Given the description of an element on the screen output the (x, y) to click on. 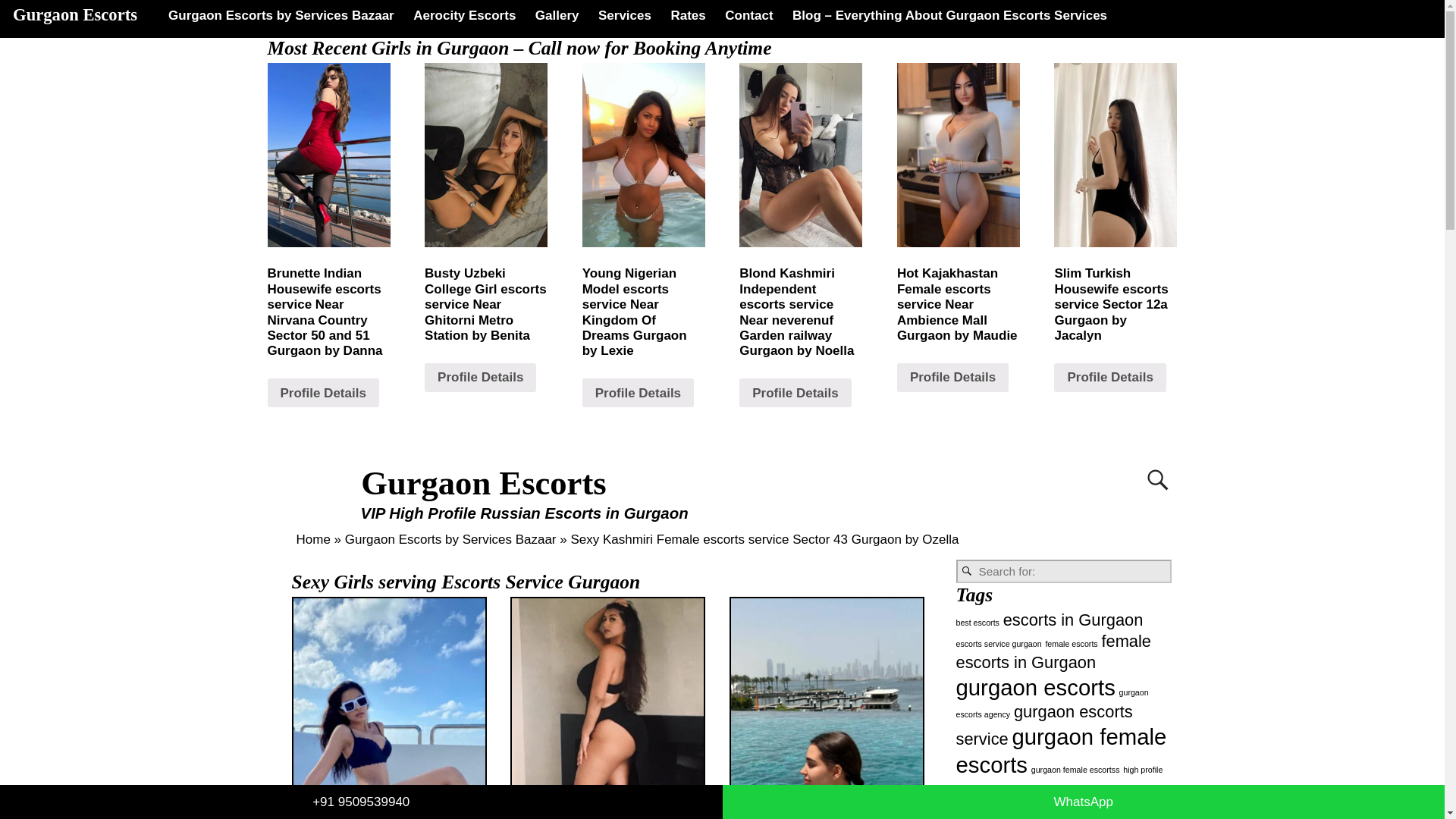
Rates (688, 15)
Aerocity Escorts (464, 15)
Profile Details (638, 392)
Gurgaon Escorts by Services Bazaar (280, 15)
Gallery (556, 15)
Profile Details (322, 392)
Profile Details (480, 377)
Profile Details (952, 377)
Contact (749, 15)
Profile Details (794, 392)
Gurgaon Escorts (483, 483)
Profile Details (1110, 377)
Gurgaon Escorts (74, 14)
Home (312, 539)
Gurgaon Escorts by Services Bazaar (450, 539)
